Given the description of an element on the screen output the (x, y) to click on. 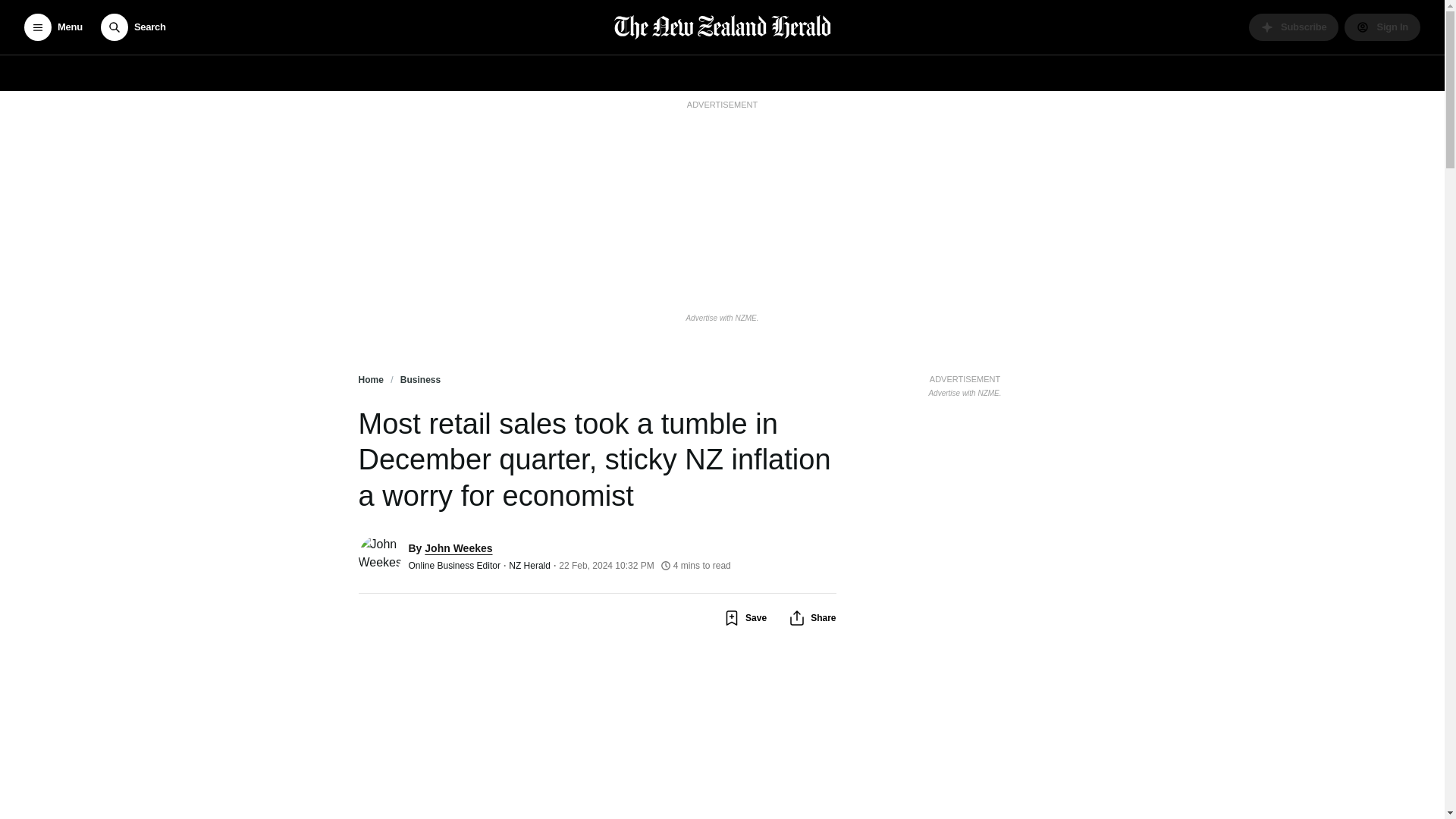
Manage your account (1382, 26)
Sign In (1382, 26)
Subscribe (1294, 26)
Menu (53, 26)
Search (132, 26)
